Given the description of an element on the screen output the (x, y) to click on. 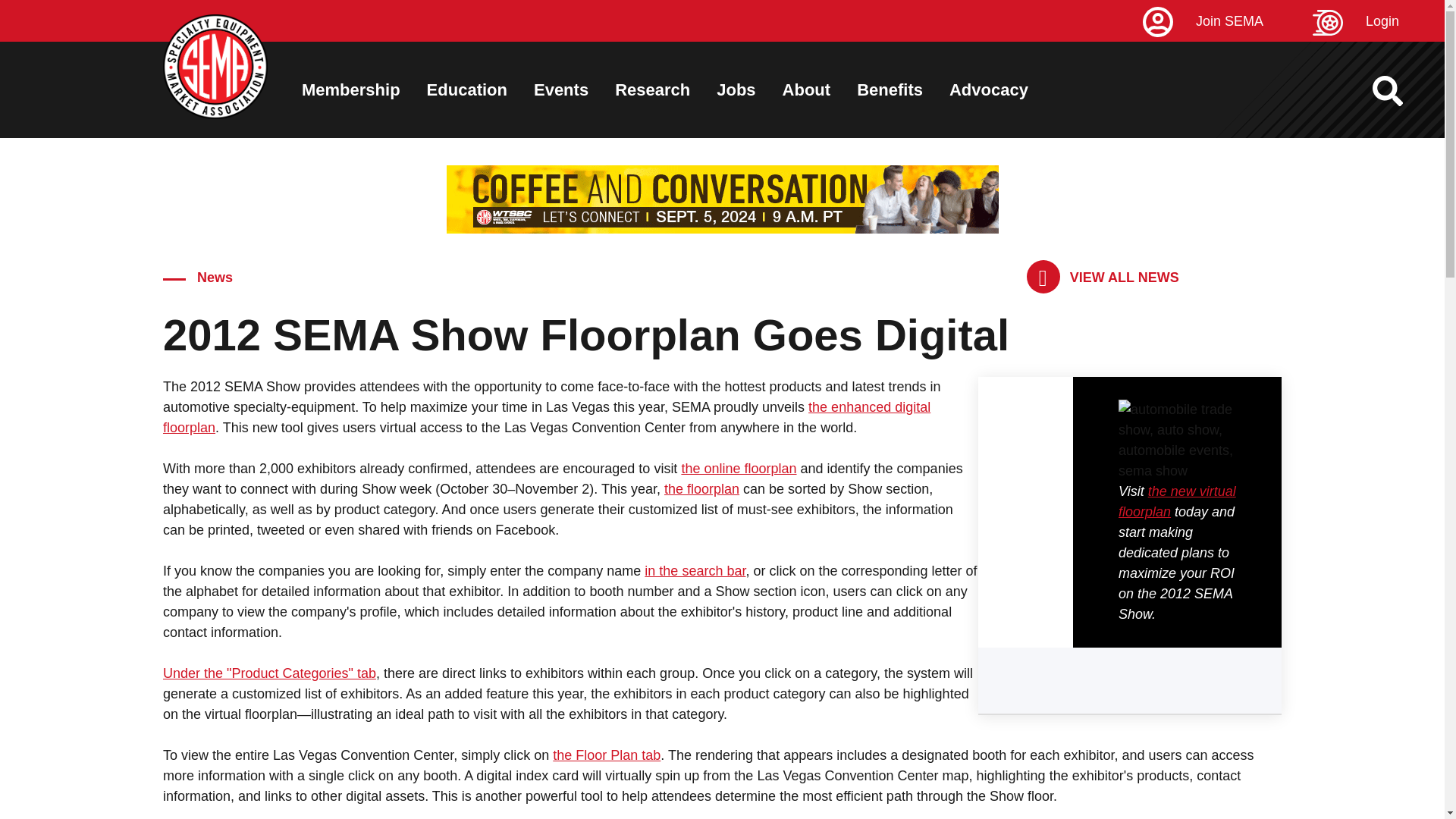
Membership (350, 89)
Benefits (889, 89)
Education (466, 89)
the enhanced digital floorplan (546, 416)
in the search bar (695, 570)
the floorplan (701, 488)
the Floor Plan tab (607, 754)
Login (1378, 20)
the new virtual floorplan (1177, 501)
Under the "Product Categories" tab (269, 672)
